Given the description of an element on the screen output the (x, y) to click on. 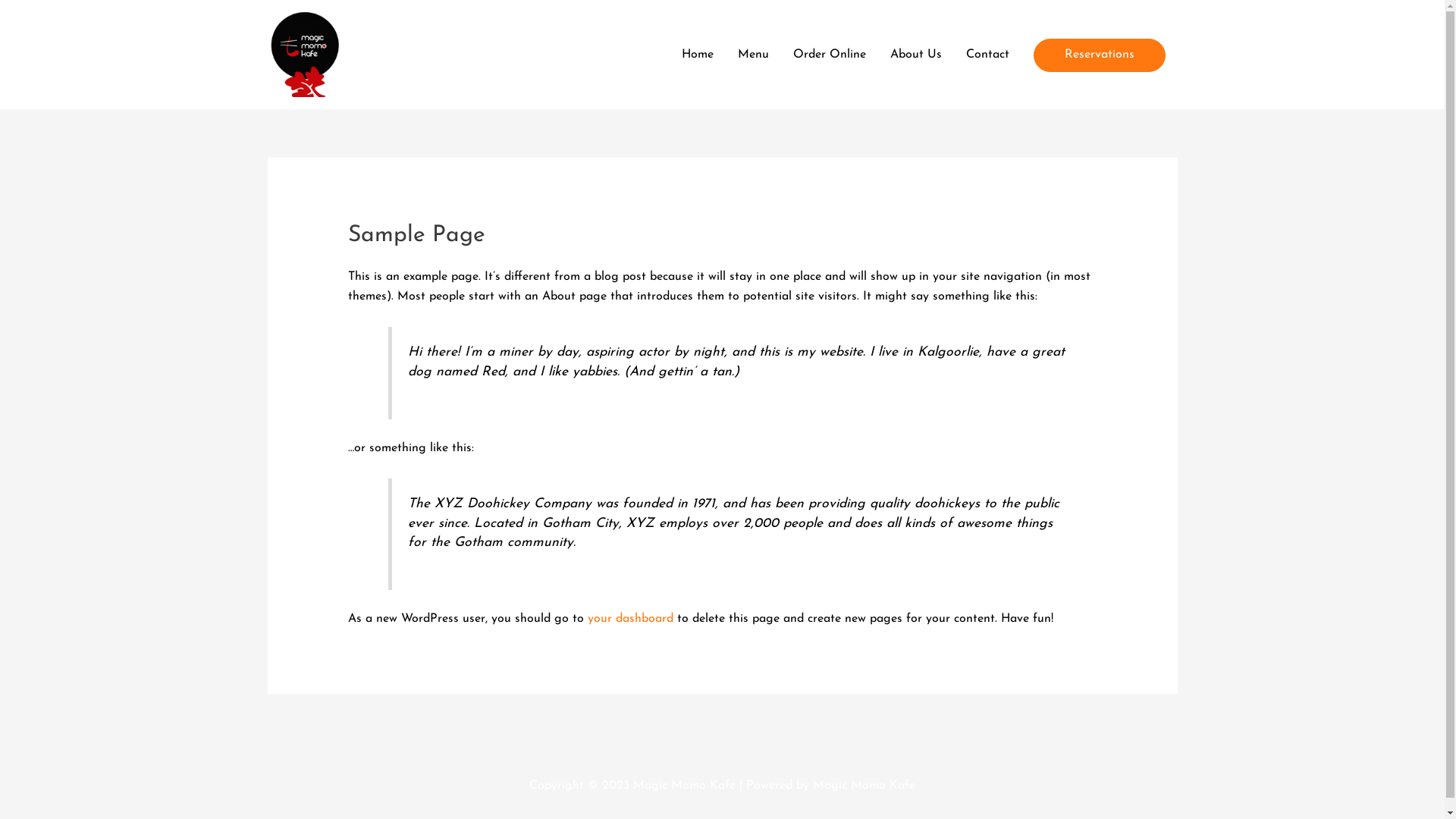
Home Element type: text (696, 53)
Menu Element type: text (752, 53)
About Us Element type: text (915, 53)
Reservations Element type: text (1098, 55)
Order Online Element type: text (829, 53)
Contact Element type: text (987, 53)
your dashboard Element type: text (630, 618)
Reservations Element type: text (1098, 54)
